Given the description of an element on the screen output the (x, y) to click on. 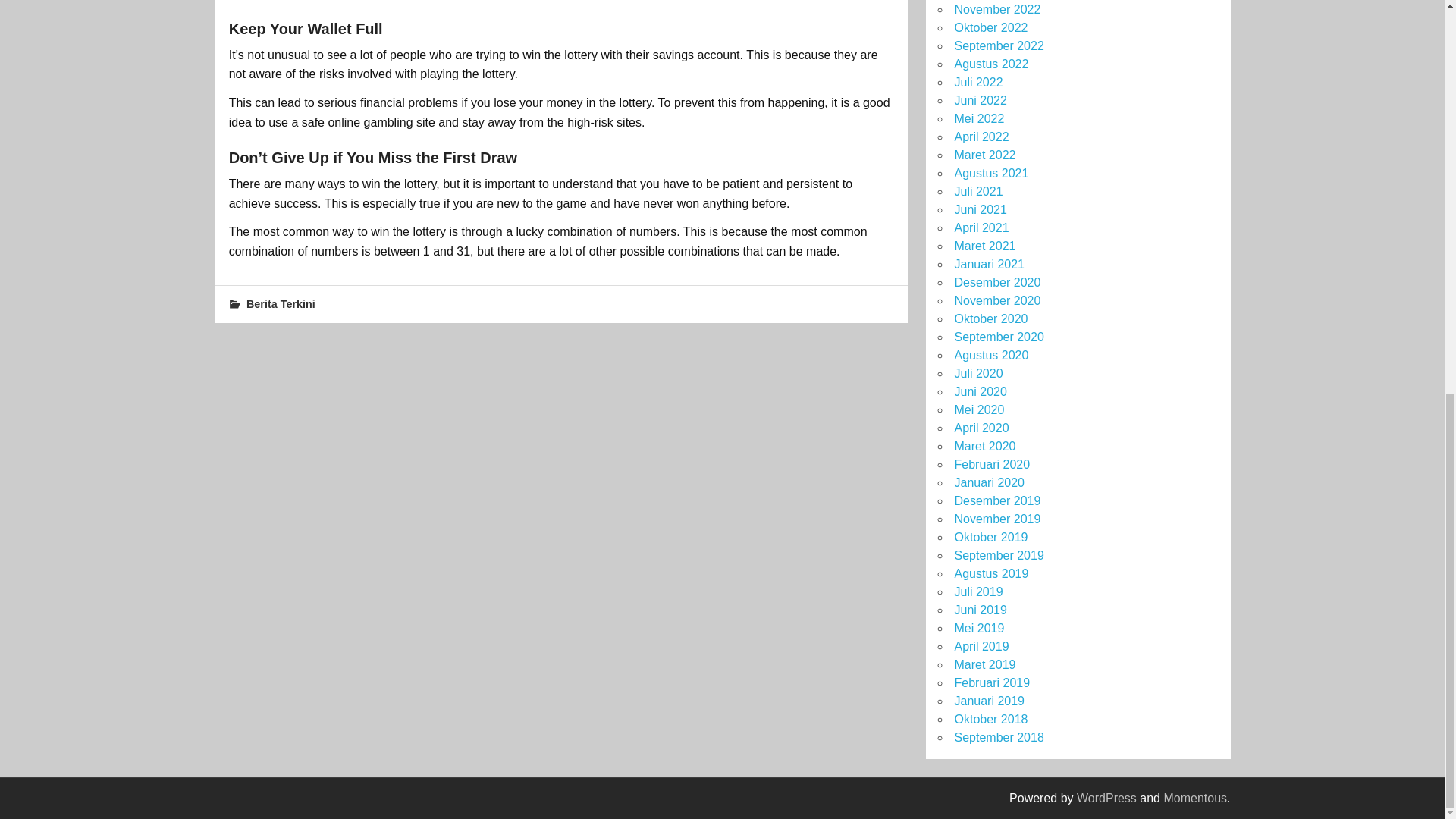
Oktober 2022 (990, 27)
Berita Terkini (280, 304)
WordPress (1107, 797)
Momentous WordPress Theme (1195, 797)
September 2022 (998, 45)
November 2022 (997, 9)
